Given the description of an element on the screen output the (x, y) to click on. 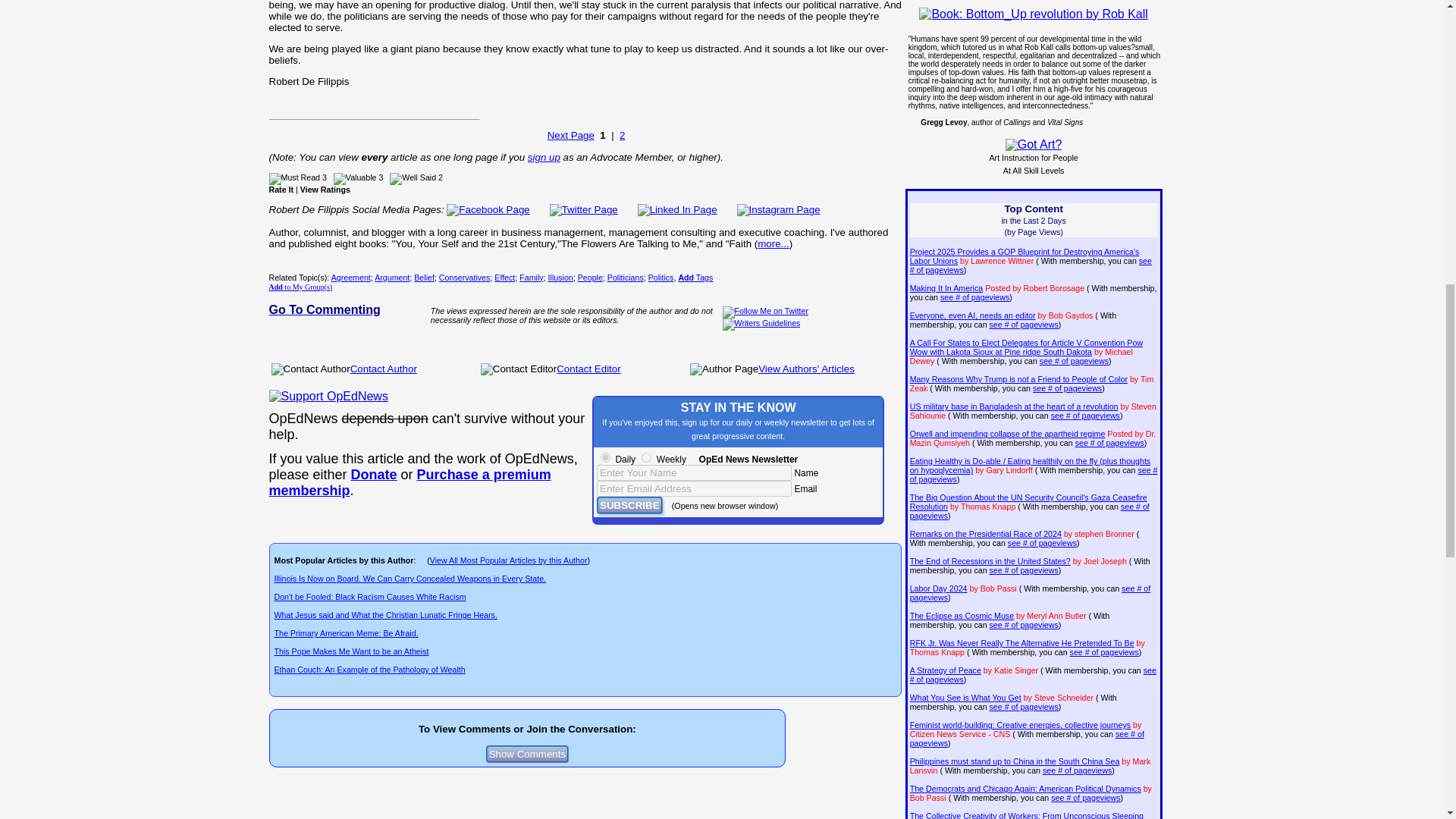
Conservatives (464, 276)
Instagram Page (778, 209)
Argument (391, 276)
Must Read (293, 178)
Valuable (355, 178)
SUBSCRIBE (629, 505)
-- (373, 474)
Belief (423, 276)
Weekly (646, 457)
Next Page (570, 134)
